Given the description of an element on the screen output the (x, y) to click on. 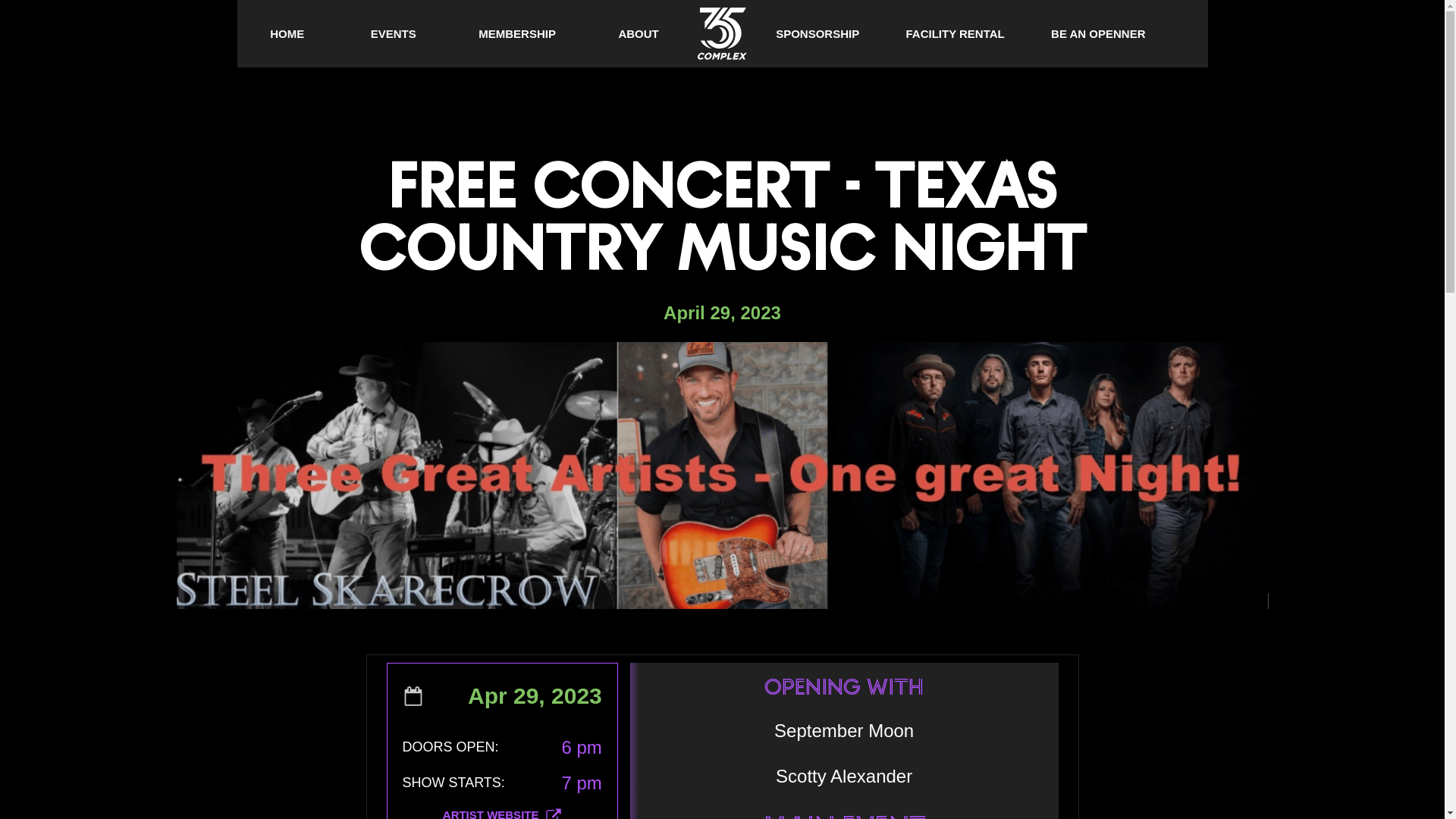
FACILITY RENTAL Element type: text (954, 33)
ABOUT Element type: text (638, 33)
EVENTS Element type: text (393, 33)
HOME Element type: text (286, 33)
SPONSORSHIP Element type: text (817, 33)
MEMBERSHIP Element type: text (516, 33)
BE AN OPENNER Element type: text (1098, 33)
